Given the description of an element on the screen output the (x, y) to click on. 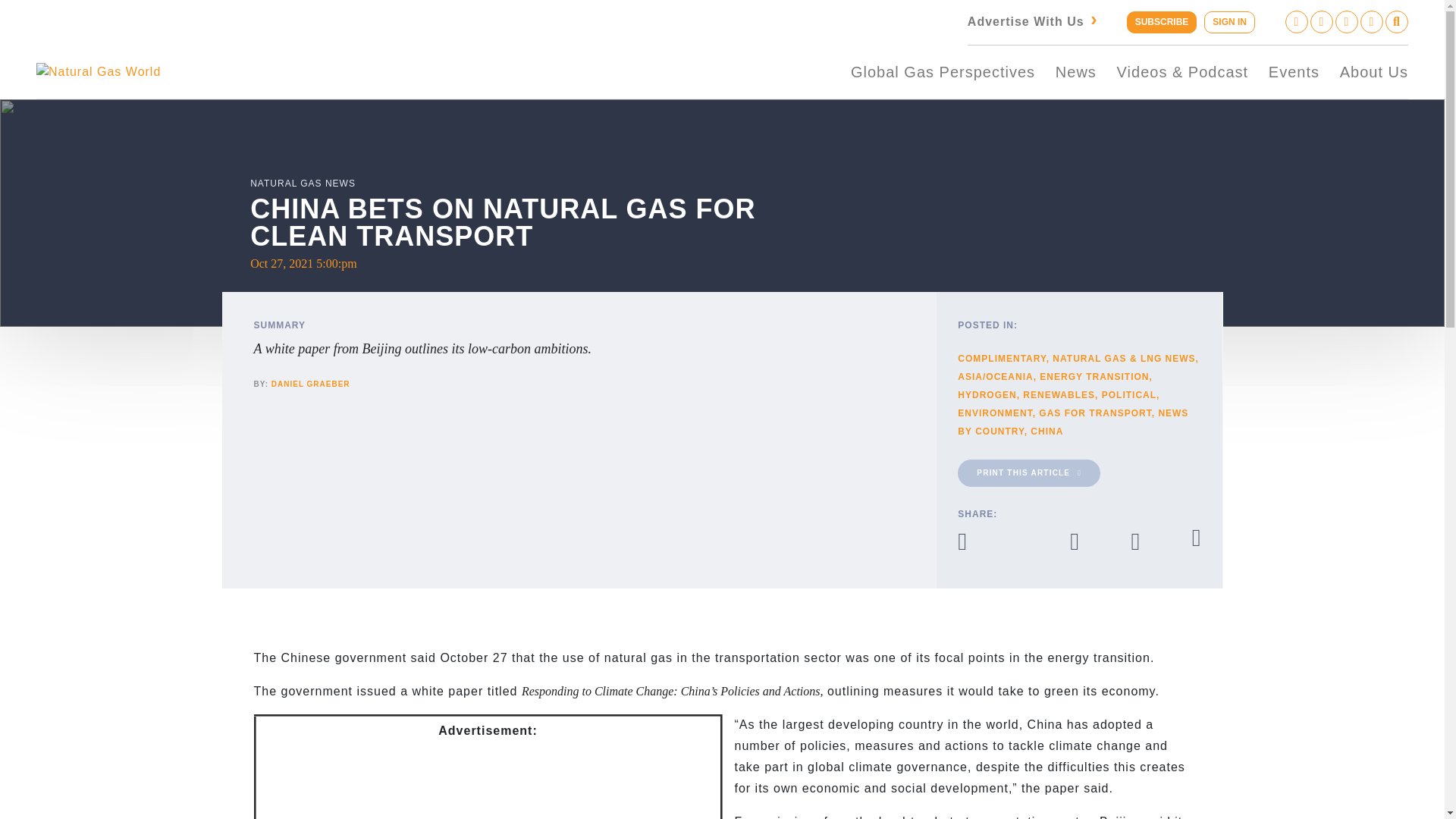
GAS FOR TRANSPORT (1095, 412)
About Us (1373, 71)
ENERGY TRANSITION (1093, 376)
News (1075, 71)
HYDROGEN (987, 394)
Events (1293, 71)
Global Gas Perspectives (942, 71)
COMPLIMENTARY (1001, 357)
SIGN IN (1229, 22)
CHINA (1046, 430)
PRINT THIS ARTICLE (1029, 472)
NEWS BY COUNTRY (1073, 421)
SUBSCRIBE (1161, 22)
RENEWABLES (1058, 394)
POLITICAL (1129, 394)
